Given the description of an element on the screen output the (x, y) to click on. 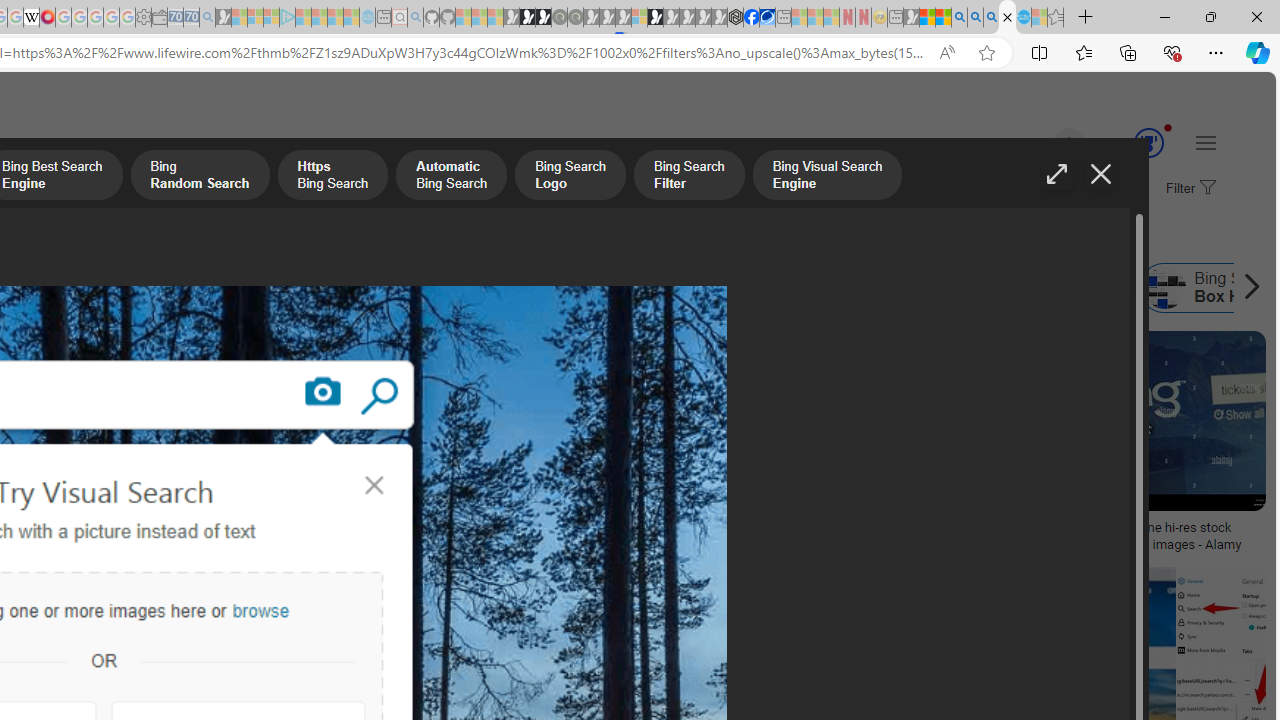
Nordace | Facebook (751, 17)
Who Made Bing Search Engine (434, 287)
Bing Search Filter (688, 177)
Microsoft Rewards 84 (1130, 143)
Bing Visual Search Engine (827, 177)
Class: item col (1051, 287)
